Given the description of an element on the screen output the (x, y) to click on. 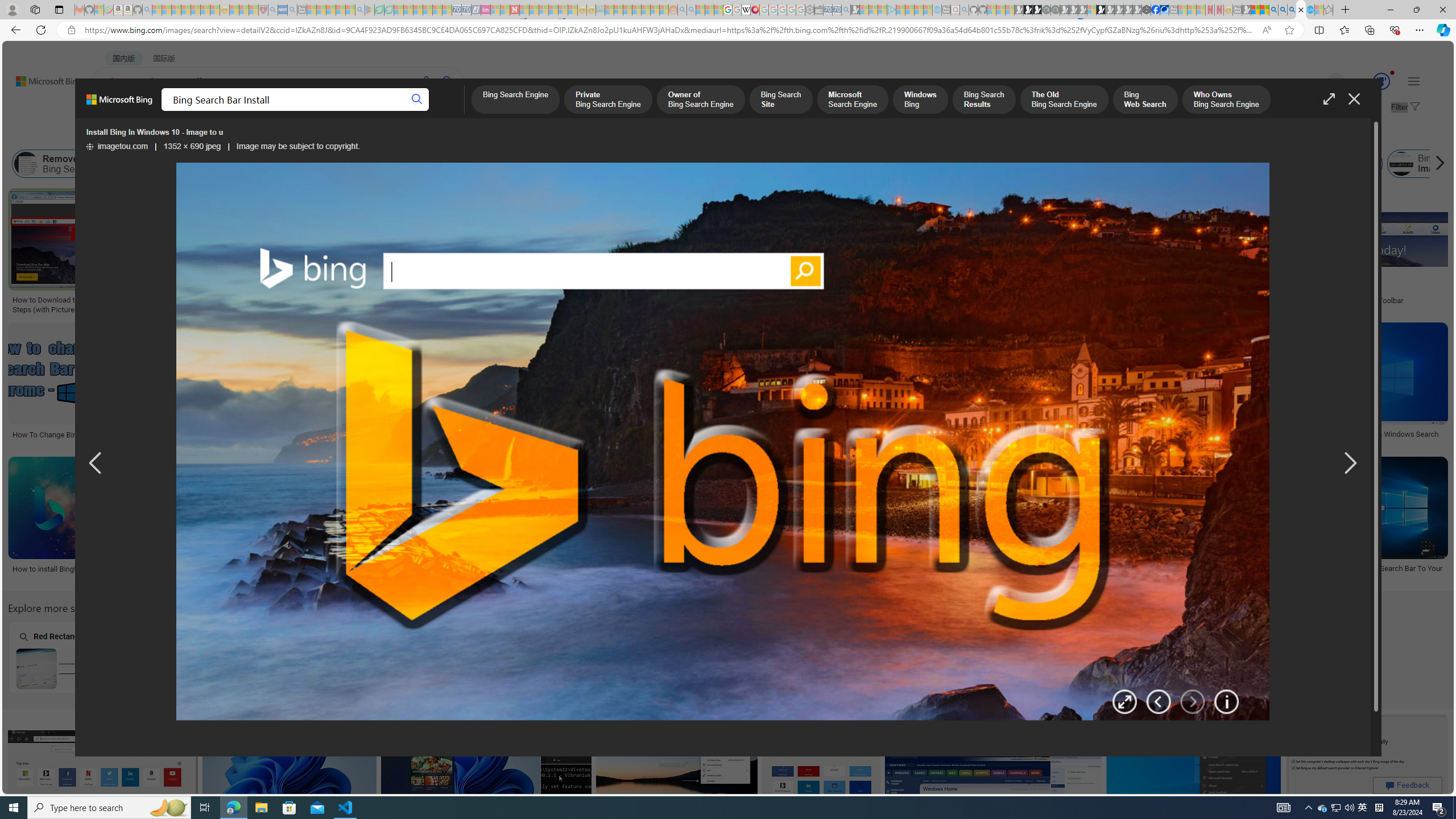
Nordace | Facebook (1154, 9)
Back to Bing search (41, 78)
Target page - Wikipedia (745, 9)
Related ProductsT-ShirtsMugsStickers (706, 252)
Eugene (1319, 81)
Filter (1403, 107)
Image result for Bing Search Bar Install (1366, 763)
